Given the description of an element on the screen output the (x, y) to click on. 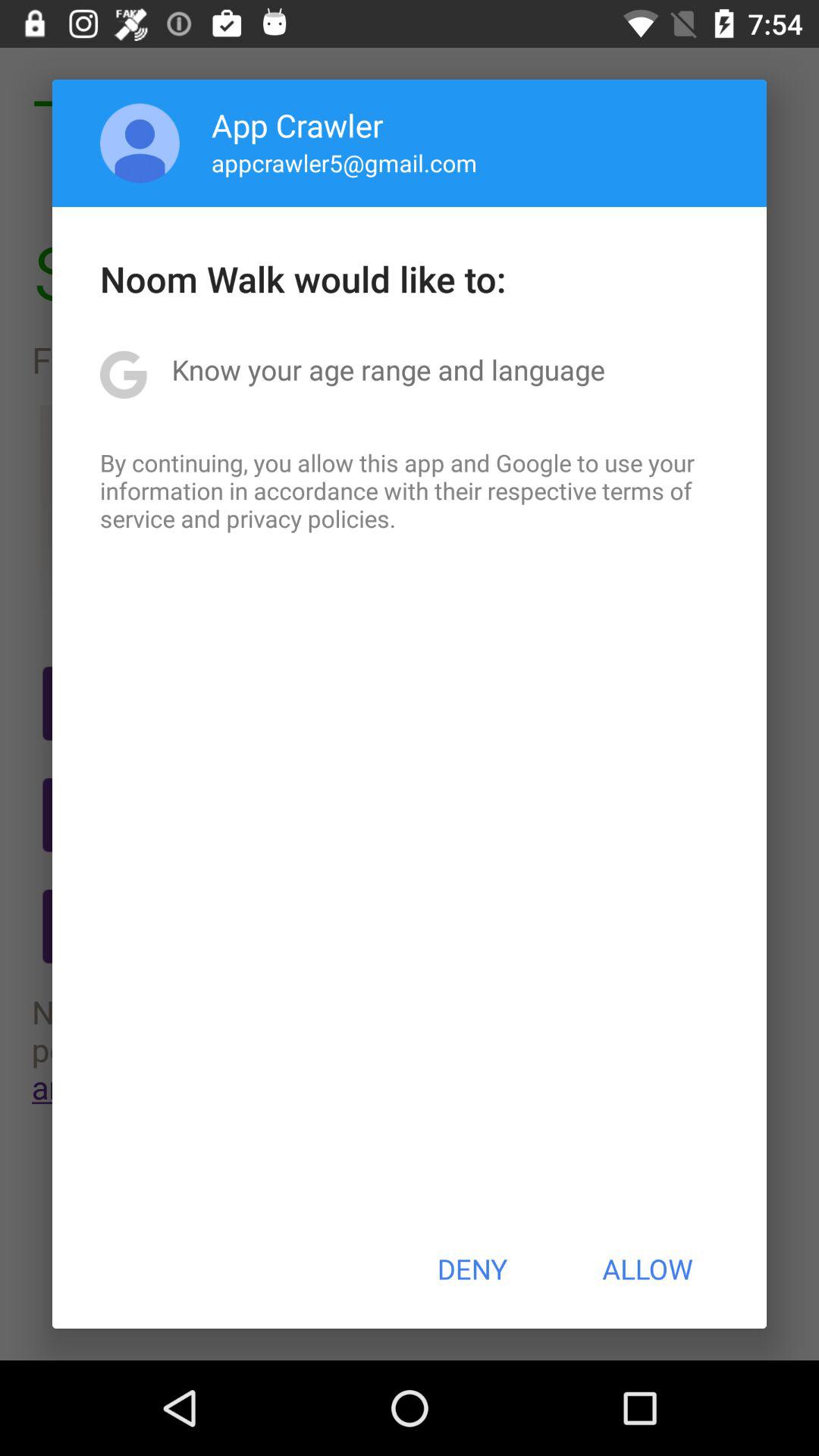
turn on app below the app crawler icon (344, 162)
